Given the description of an element on the screen output the (x, y) to click on. 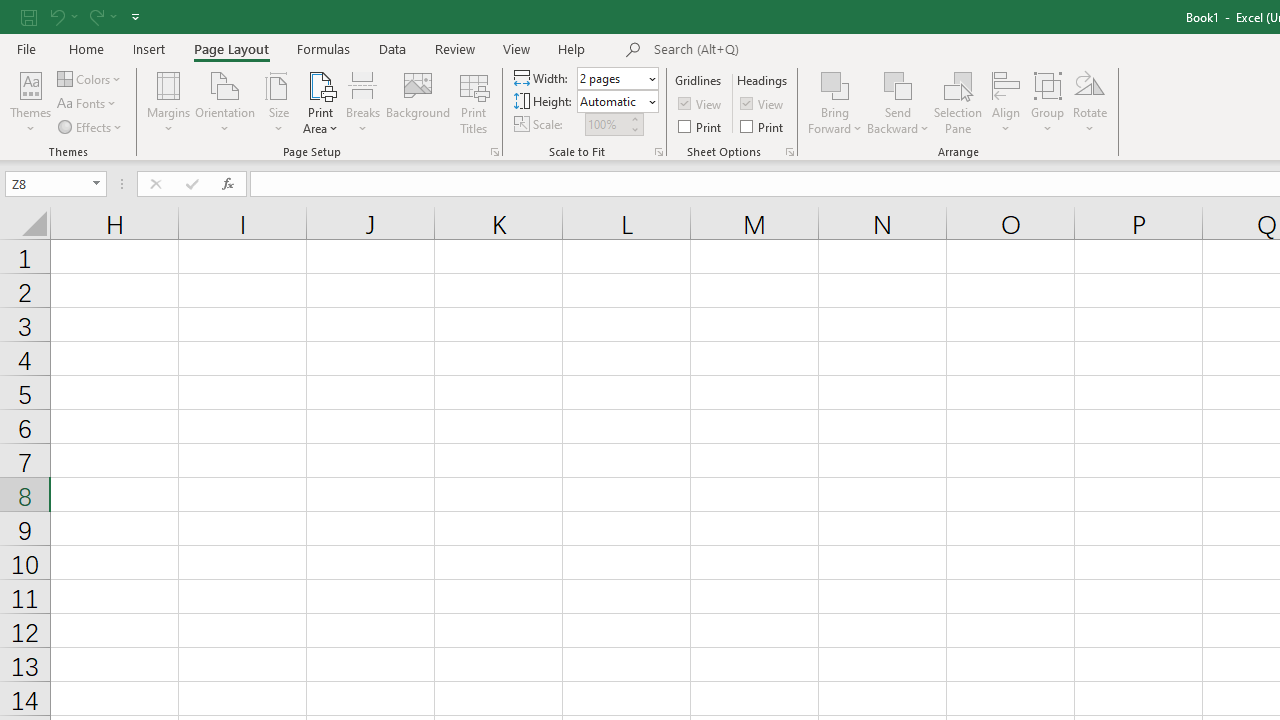
Background... (418, 102)
Height (611, 101)
Effects (91, 126)
Print Titles (474, 102)
Themes (30, 102)
Scale (605, 124)
Sheet Options (789, 151)
Fonts (87, 103)
Send Backward (898, 84)
Send Backward (898, 102)
